Given the description of an element on the screen output the (x, y) to click on. 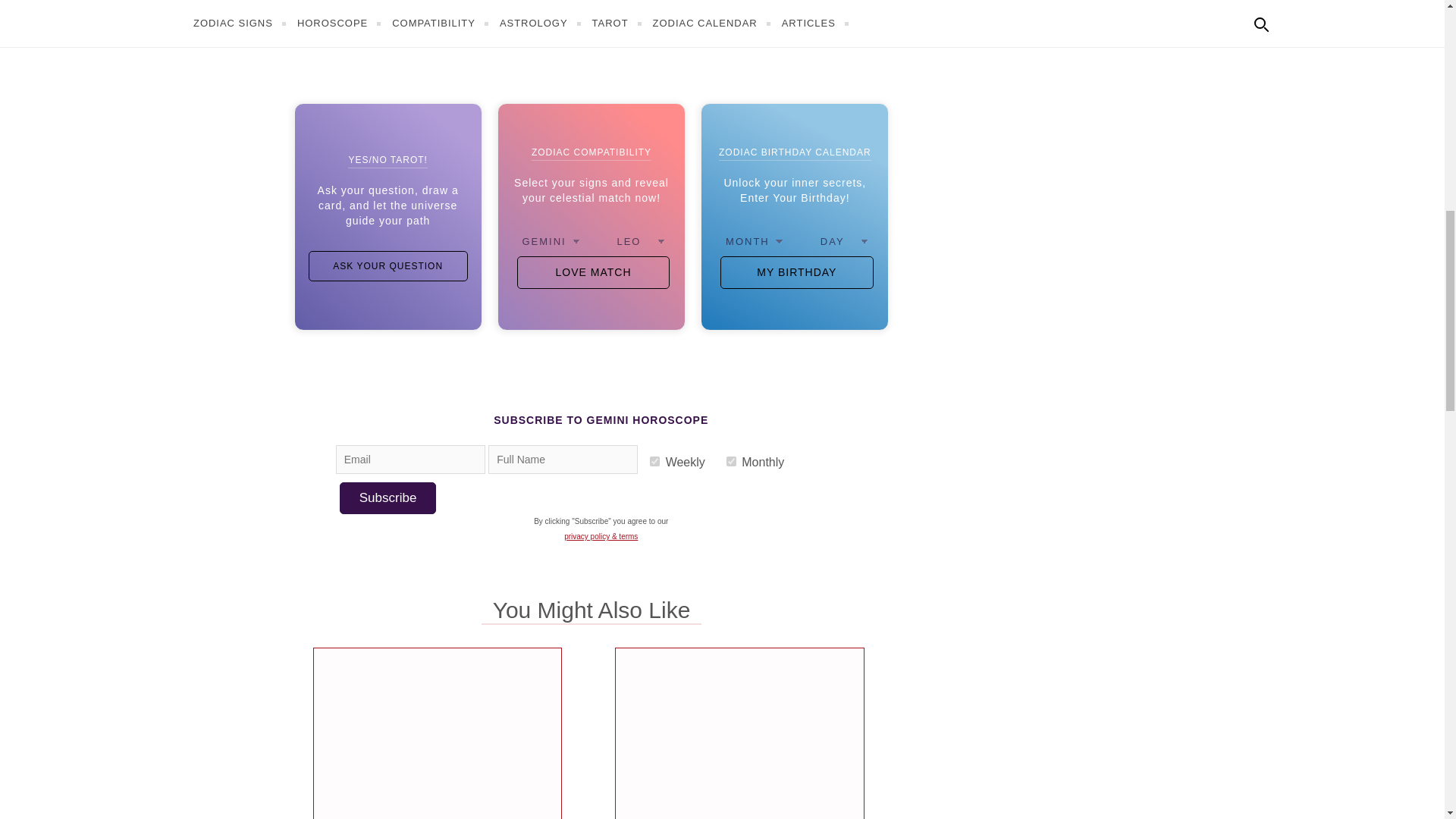
monthly (731, 461)
weekly (654, 461)
